Given the description of an element on the screen output the (x, y) to click on. 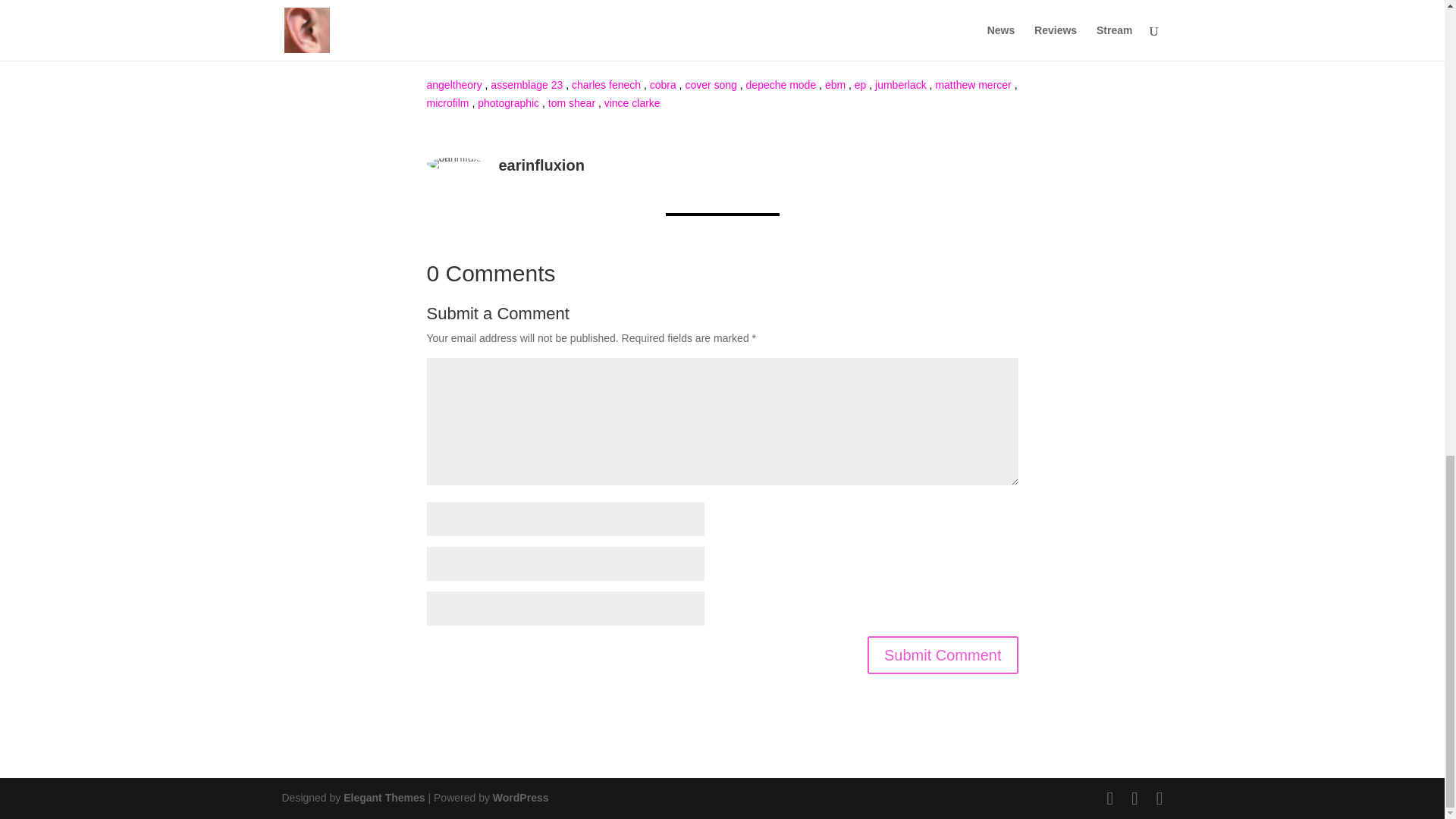
ebm (835, 84)
Premium WordPress Themes (384, 797)
depeche mode (780, 84)
Elegant Themes (384, 797)
WordPress (520, 797)
cobra (663, 84)
Submit Comment (942, 655)
photographic (507, 102)
cover song (710, 84)
microfilm (447, 102)
vince clarke (632, 102)
matthew mercer (972, 84)
tom shear (571, 102)
angeltheory (453, 84)
charles fenech (606, 84)
